Given the description of an element on the screen output the (x, y) to click on. 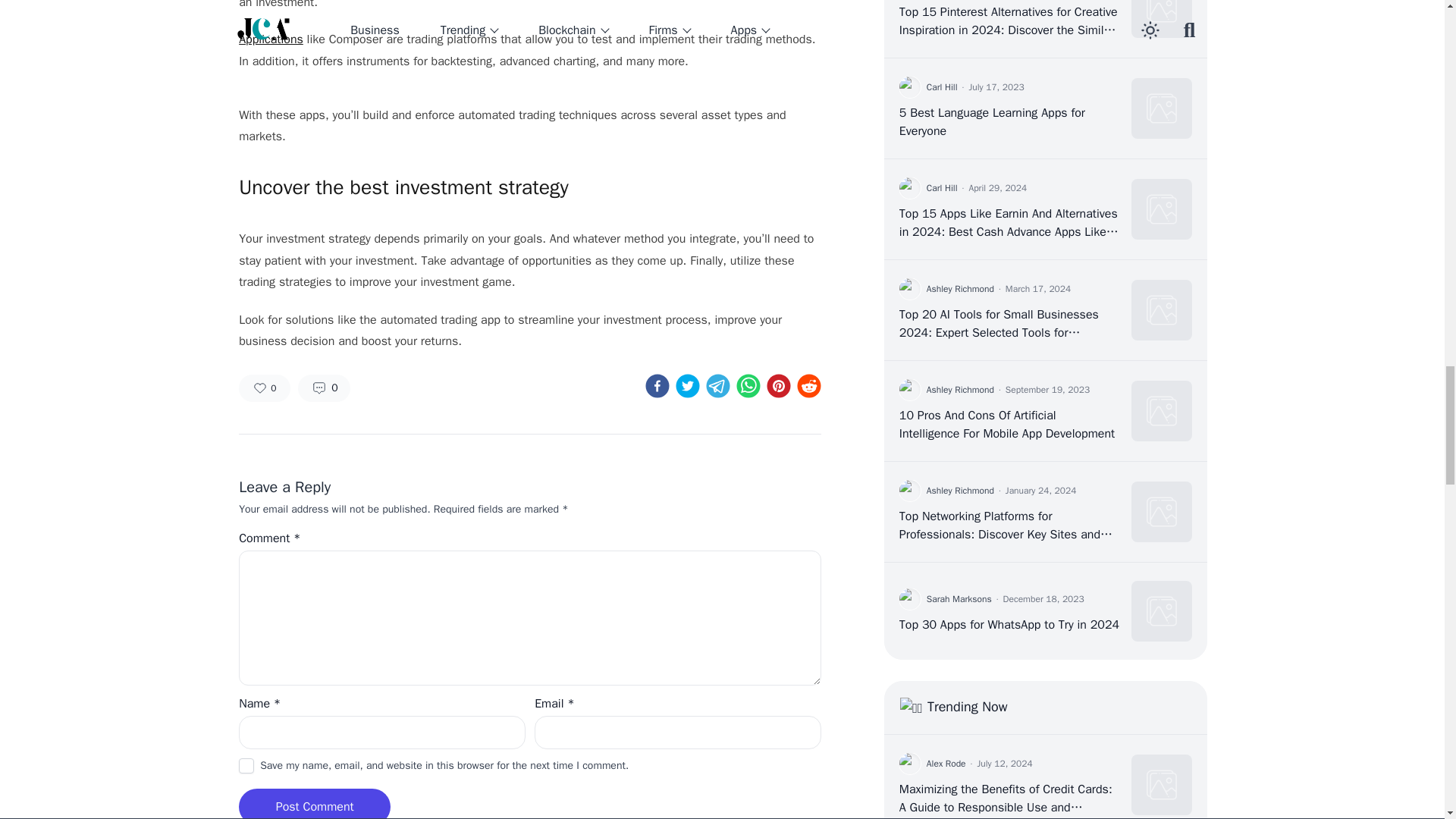
yes (245, 765)
Comments (323, 388)
Post Comment (314, 806)
